Given the description of an element on the screen output the (x, y) to click on. 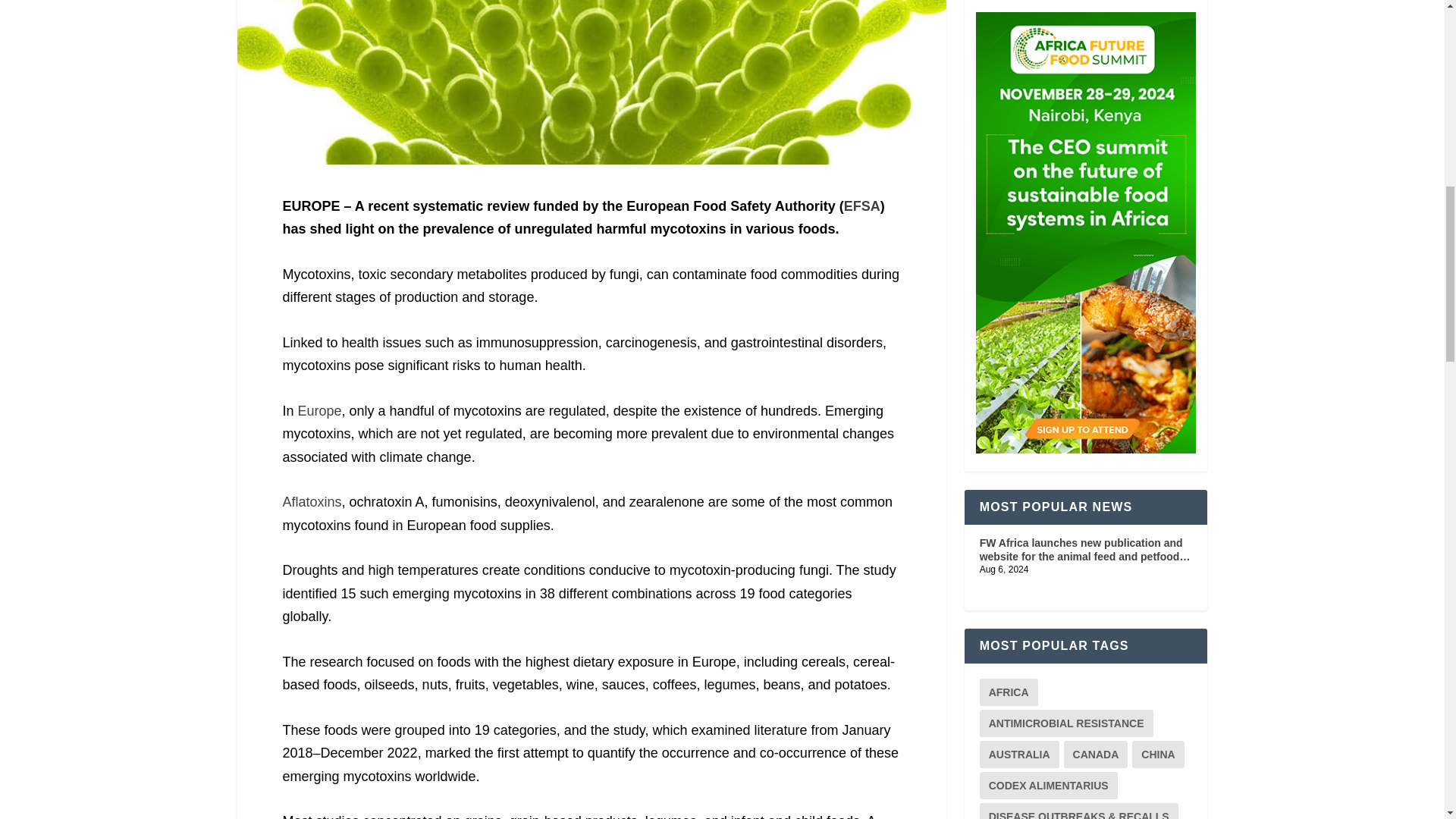
EFSA (862, 206)
Aflatoxins (311, 501)
Europe (320, 410)
